Given the description of an element on the screen output the (x, y) to click on. 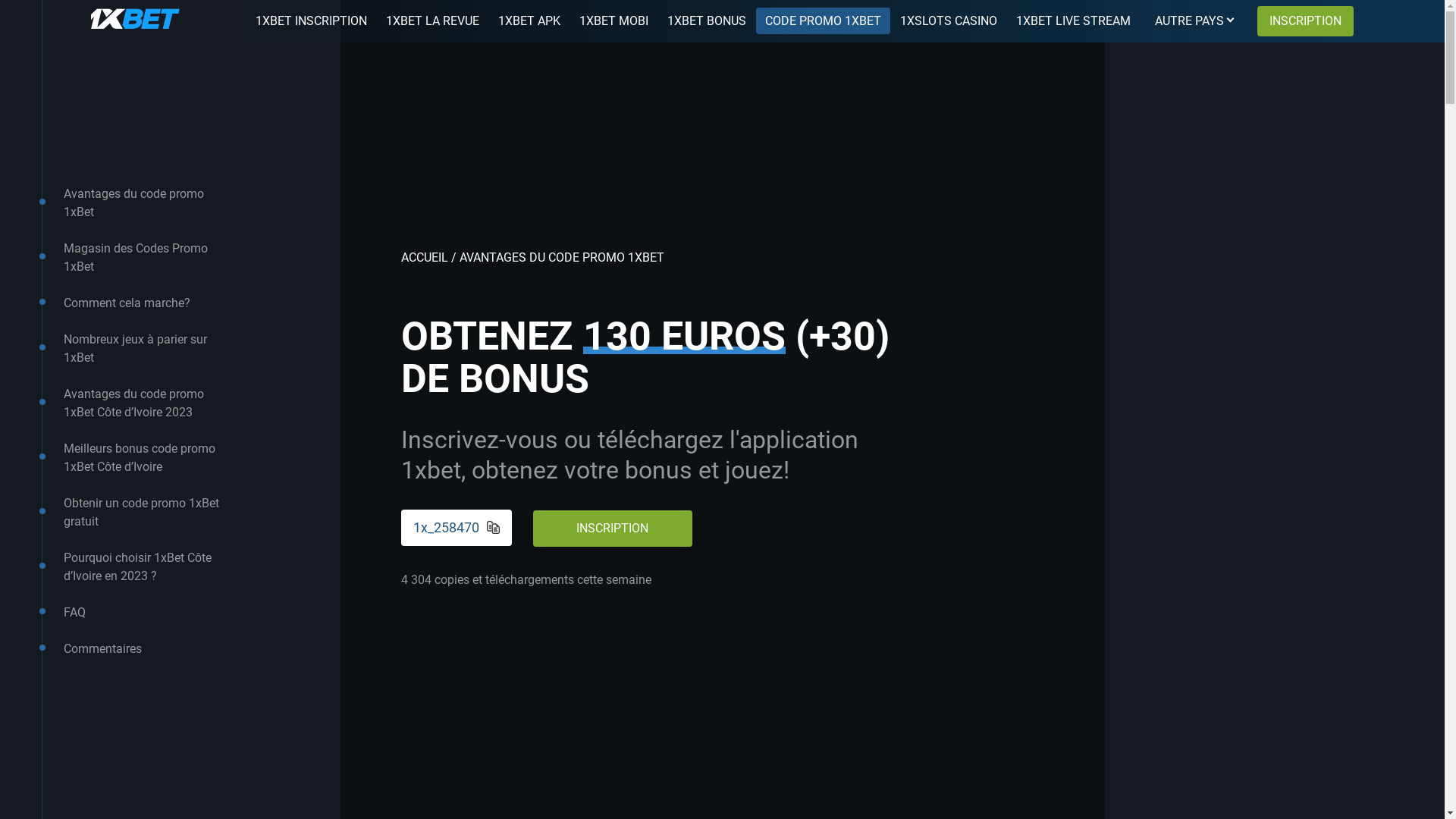
Commentaires Element type: text (102, 649)
1XBET LA REVUE Element type: text (432, 20)
1XBET APK Element type: text (529, 20)
INSCRIPTION Element type: text (1305, 21)
Comment cela marche? Element type: text (126, 303)
1XBET LIVE STREAM Element type: text (1073, 20)
Magasin des Codes Promo 1xBet Element type: text (147, 257)
1XBET INSCRIPTION Element type: text (311, 20)
CODE PROMO 1XBET Element type: text (823, 20)
FAQ Element type: text (74, 612)
AUTRE PAYS Element type: text (1189, 20)
1XSLOTS CASINO Element type: text (948, 20)
ACCUEIL Element type: text (423, 257)
1XBET MOBI Element type: text (613, 20)
1XBET BONUS Element type: text (706, 20)
INSCRIPTION Element type: text (611, 527)
Avantages du code promo 1xBet Element type: text (147, 203)
Obtenir un code promo 1xBet gratuit Element type: text (147, 512)
